Given the description of an element on the screen output the (x, y) to click on. 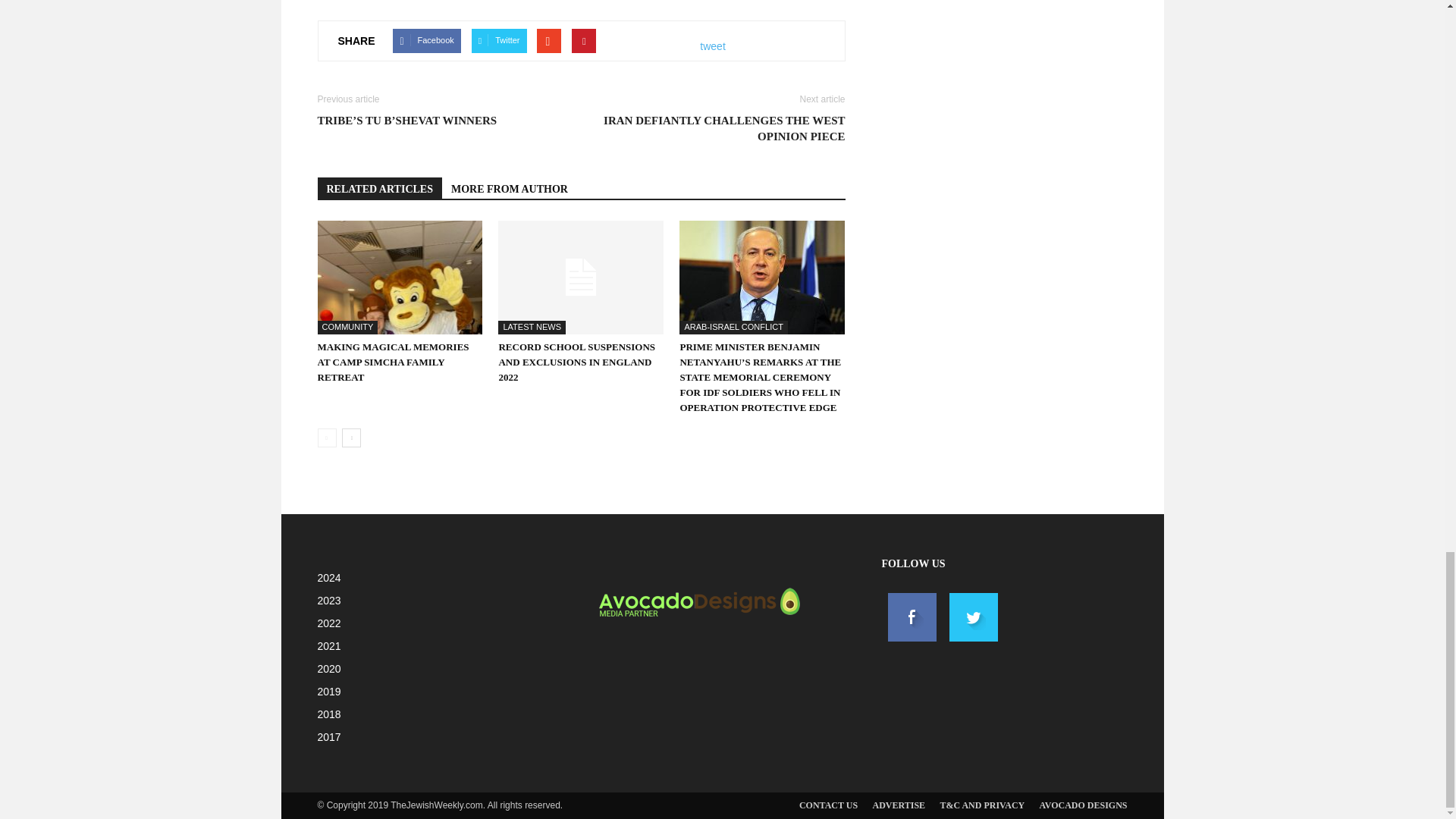
RELATED ARTICLES (379, 188)
COMMUNITY (347, 327)
MAKING MAGICAL MEMORIES AT CAMP SIMCHA FAMILY RETREAT (392, 362)
IRAN DEFIANTLY CHALLENGES THE WEST OPINION PIECE (721, 128)
tweet (712, 45)
MORE FROM AUTHOR (509, 188)
Facebook (426, 40)
Record school suspensions and exclusions in England 2022 (576, 362)
Twitter (499, 40)
MAKING MAGICAL MEMORIES AT CAMP SIMCHA FAMILY RETREAT (392, 362)
Record school suspensions and exclusions in England 2022 (580, 277)
MAKING MAGICAL MEMORIES AT CAMP SIMCHA FAMILY RETREAT (399, 277)
